Given the description of an element on the screen output the (x, y) to click on. 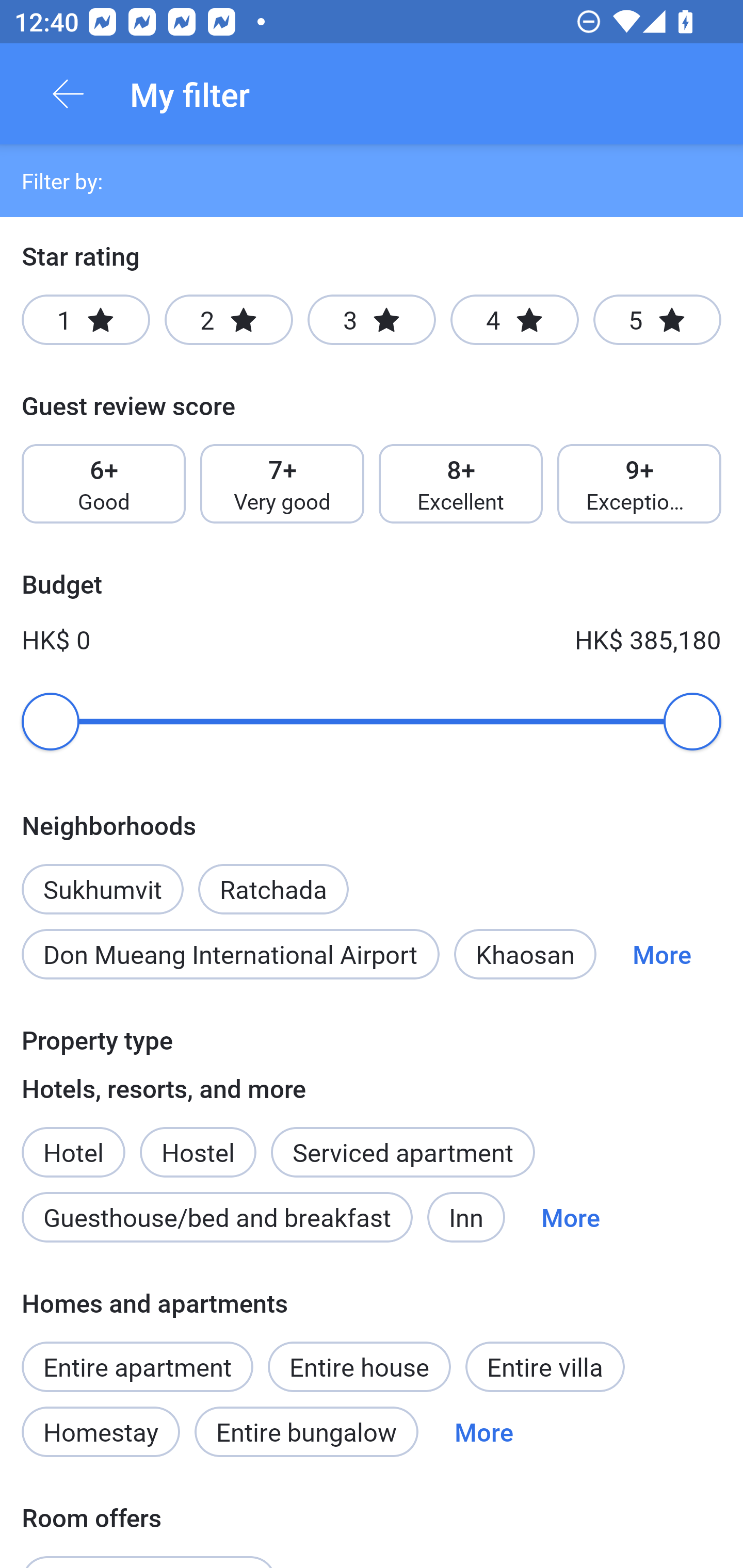
1 (85, 319)
2 (228, 319)
3 (371, 319)
4 (514, 319)
5 (657, 319)
6+ Good (103, 483)
7+ Very good (281, 483)
8+ Excellent (460, 483)
9+ Exceptional (639, 483)
Sukhumvit (102, 878)
Ratchada (273, 878)
Don Mueang International Airport (230, 954)
Khaosan (524, 954)
More (661, 954)
Hotel (73, 1141)
Hostel (197, 1141)
Serviced apartment (402, 1151)
Guesthouse/bed and breakfast (217, 1217)
Inn (465, 1217)
More (570, 1217)
Entire apartment (137, 1366)
Entire house (359, 1366)
Entire villa (544, 1366)
Homestay (100, 1432)
Entire bungalow (306, 1432)
More (483, 1432)
